Given the description of an element on the screen output the (x, y) to click on. 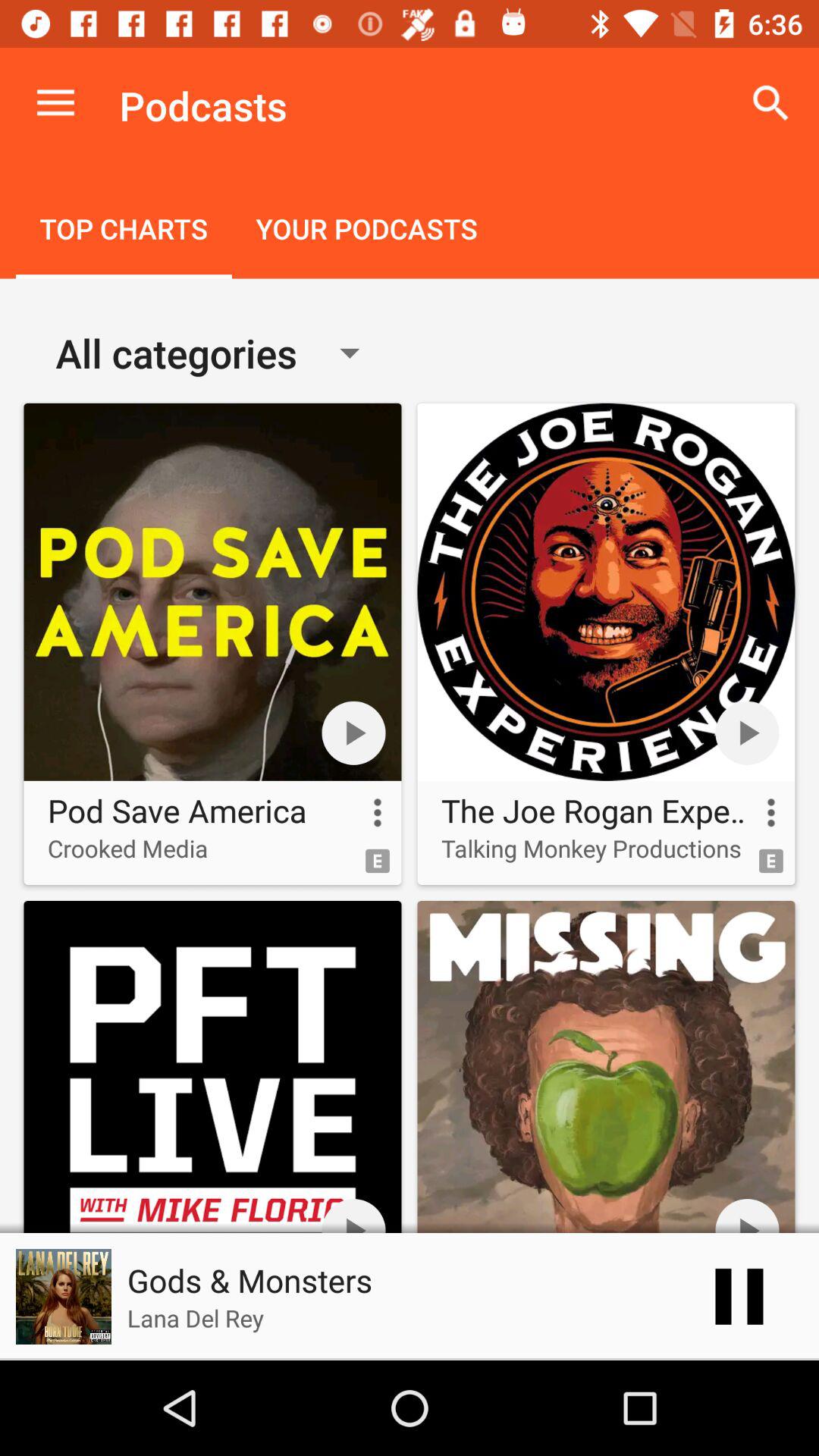
turn on icon next to podcasts (55, 103)
